Given the description of an element on the screen output the (x, y) to click on. 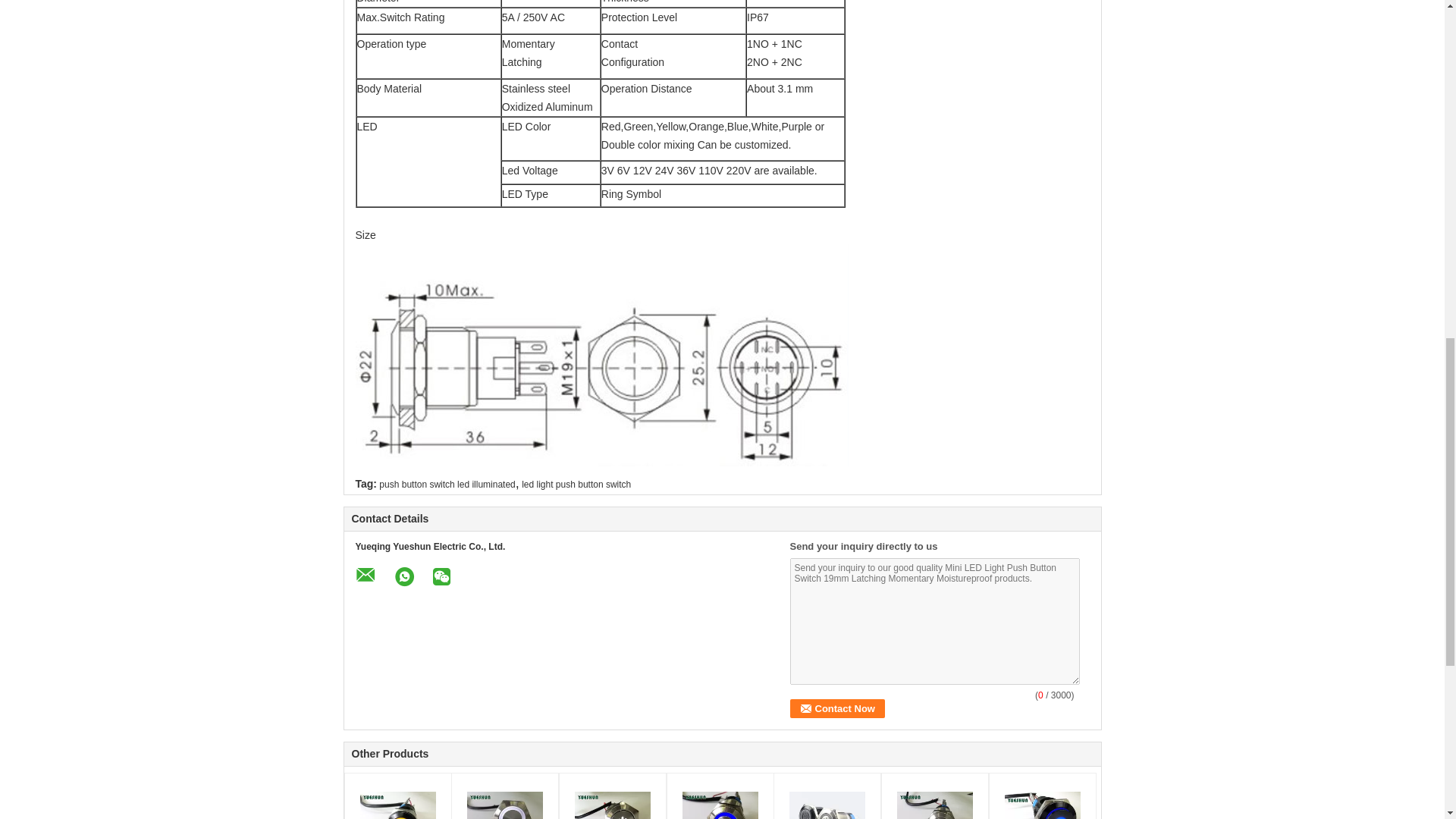
Contact Now (837, 708)
